Given the description of an element on the screen output the (x, y) to click on. 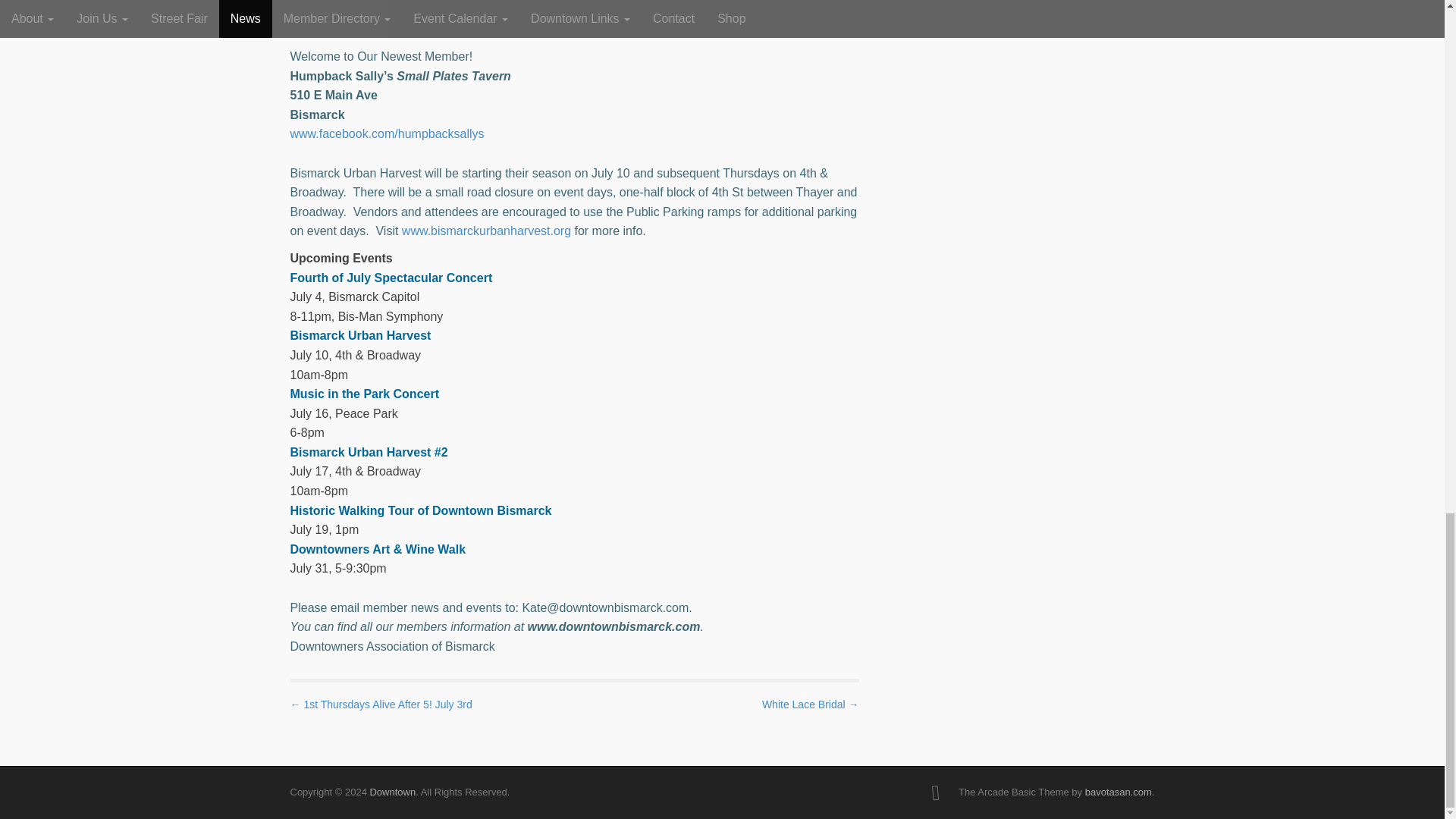
This external link will open in a new window (612, 626)
